Given the description of an element on the screen output the (x, y) to click on. 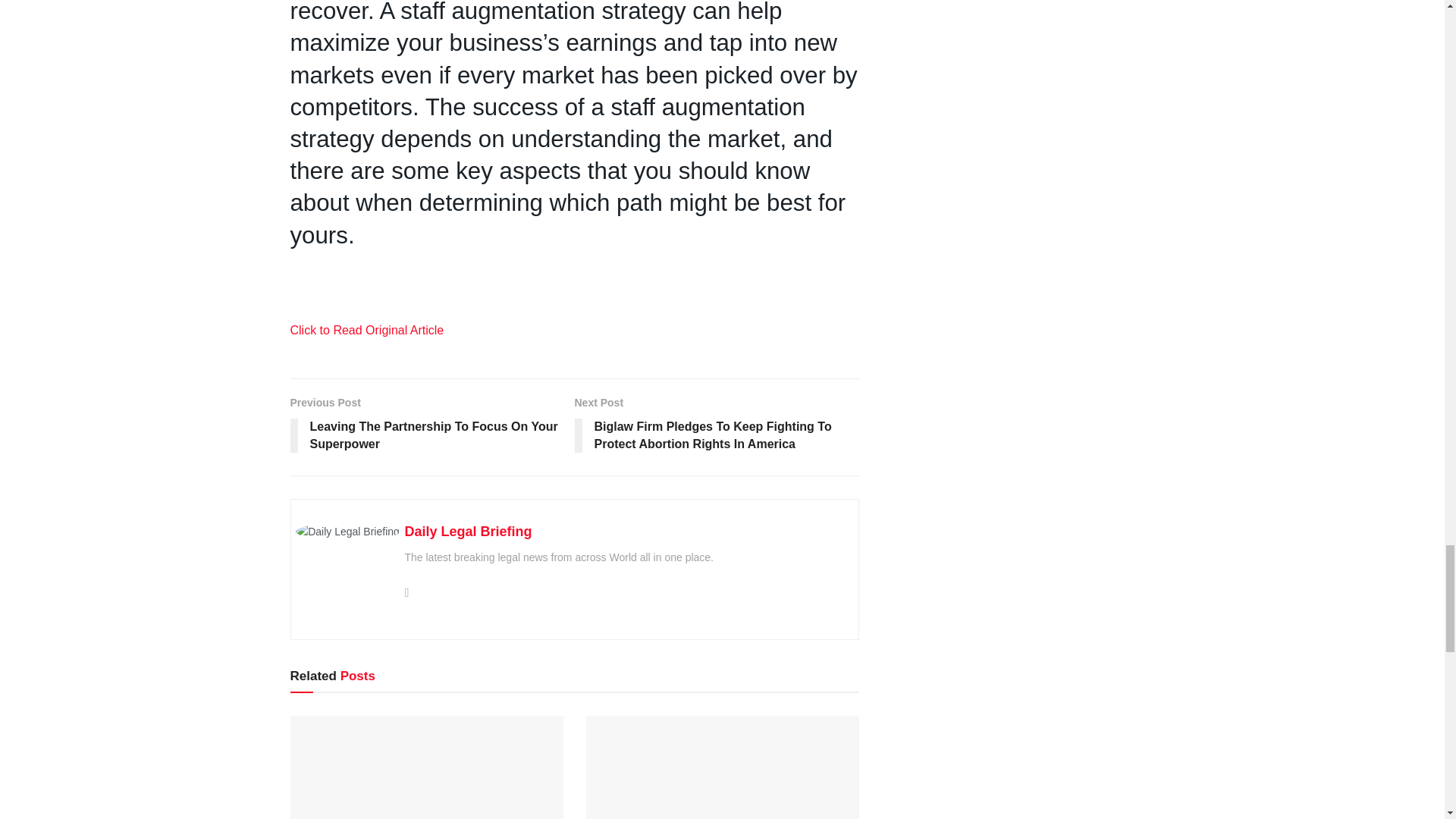
Click to Read Original Article (366, 329)
Daily Legal Briefing (468, 531)
